Given the description of an element on the screen output the (x, y) to click on. 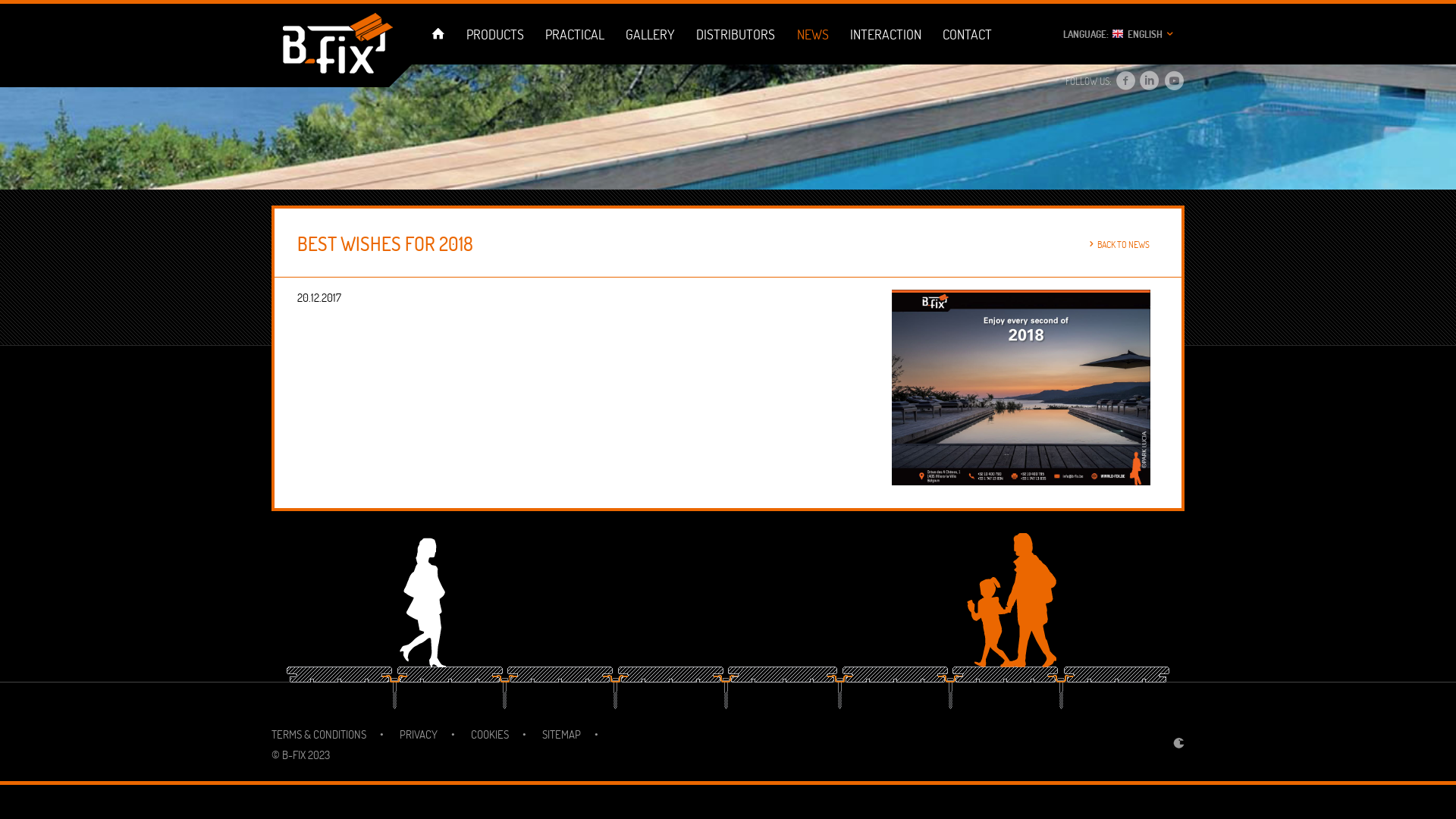
PRACTICAL Element type: text (574, 33)
DISTRIBUTORS Element type: text (735, 33)
TERMS & CONDITIONS Element type: text (318, 734)
LinkedIn Element type: hover (1149, 81)
CONTACT Element type: text (966, 33)
GALLERY Element type: text (650, 33)
Youtube Element type: hover (1173, 81)
PRODUCTS Element type: text (494, 33)
INTERACTION Element type: text (885, 33)
NEWS Element type: text (812, 33)
COOKIES Element type: text (489, 734)
PRIVACY Element type: text (418, 734)
Facebook Element type: hover (1125, 81)
SITEMAP Element type: text (561, 734)
BACK TO NEWS Element type: text (1117, 244)
